Given the description of an element on the screen output the (x, y) to click on. 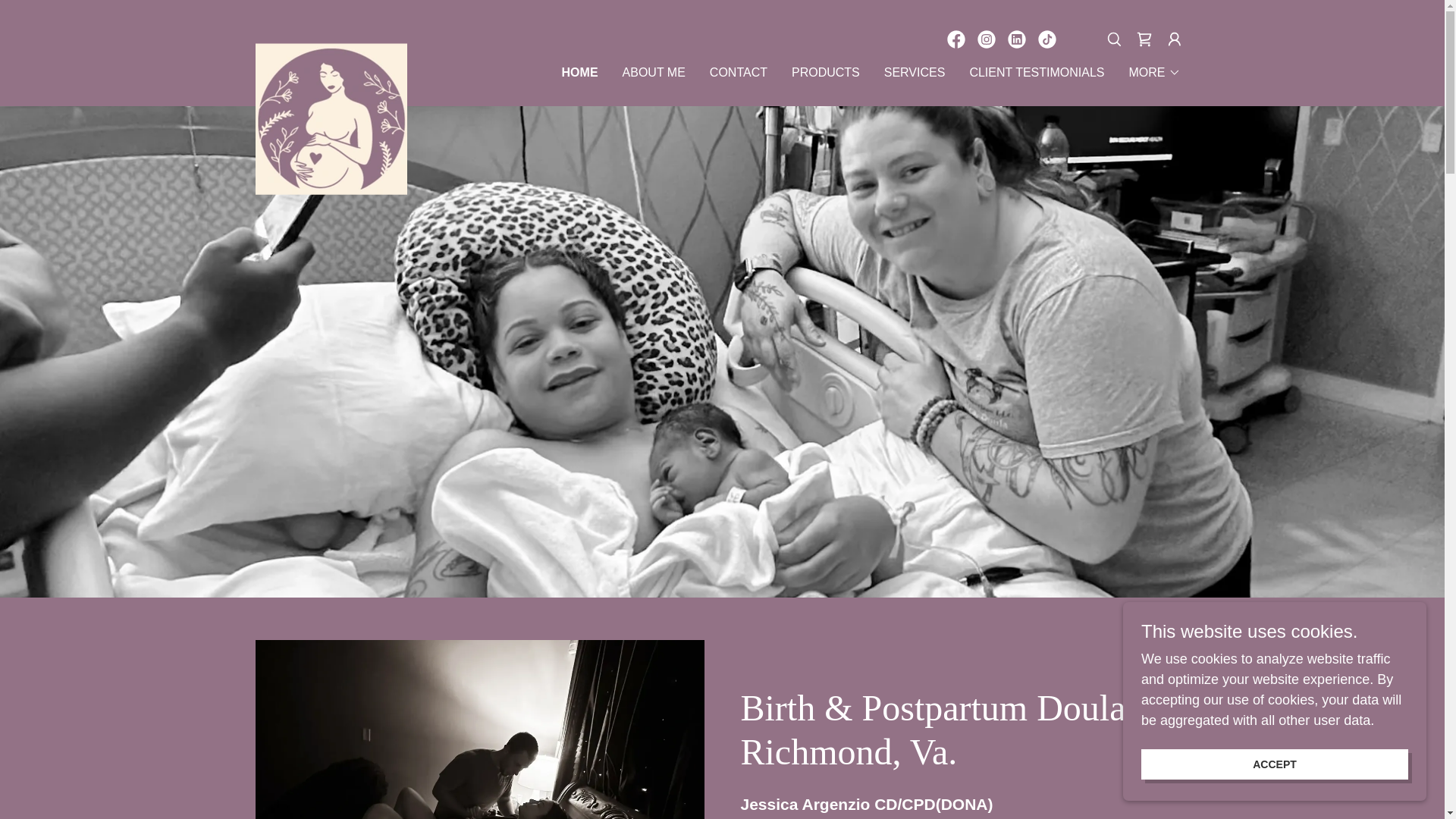
RoseMoon Birth Services LLC (330, 49)
HOME (580, 72)
SERVICES (914, 72)
ABOUT ME (653, 72)
MORE (1153, 72)
CONTACT (737, 72)
PRODUCTS (825, 72)
CLIENT TESTIMONIALS (1035, 72)
